Given the description of an element on the screen output the (x, y) to click on. 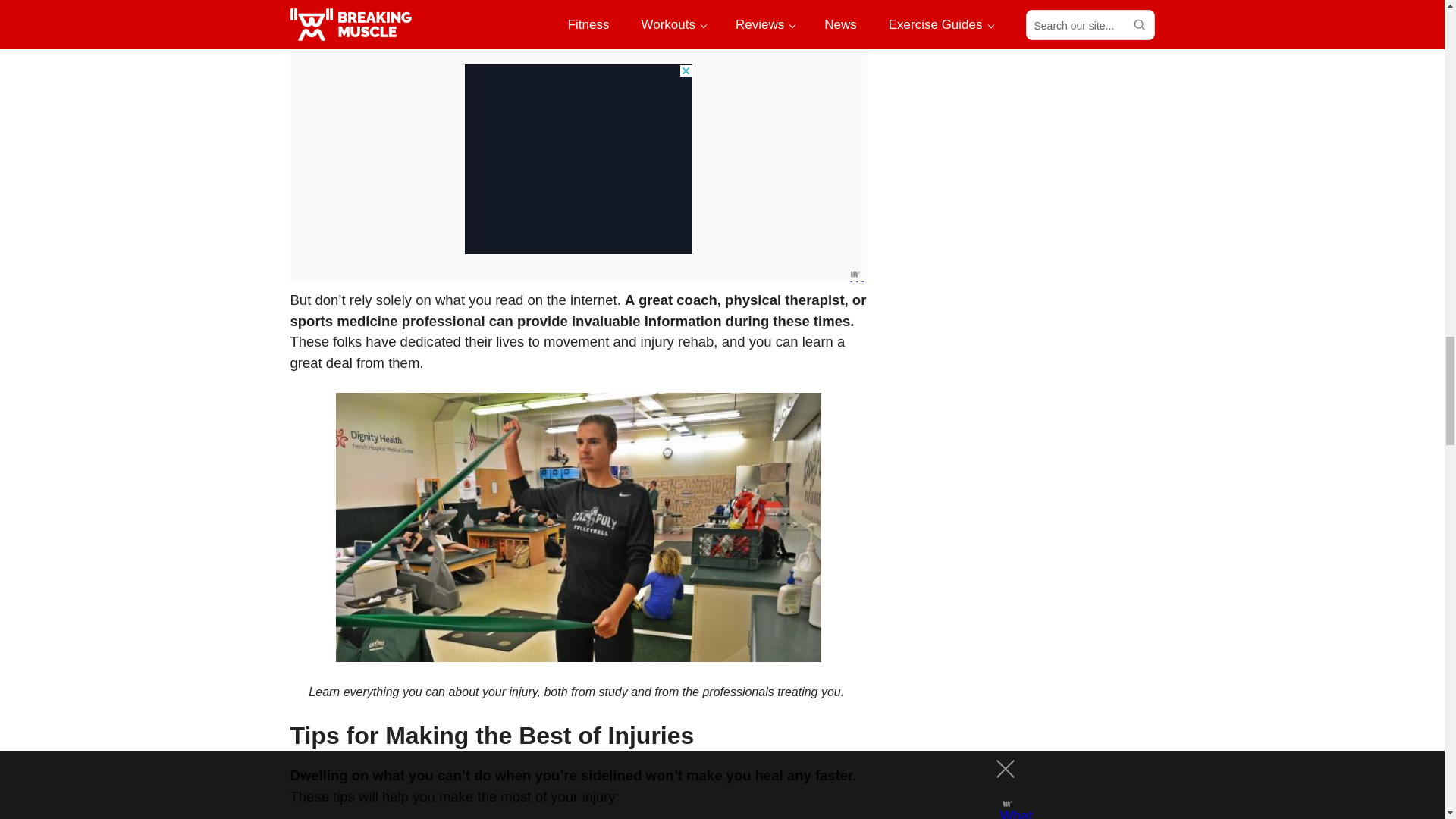
rehab bands (577, 527)
3rd party ad content (577, 158)
